Given the description of an element on the screen output the (x, y) to click on. 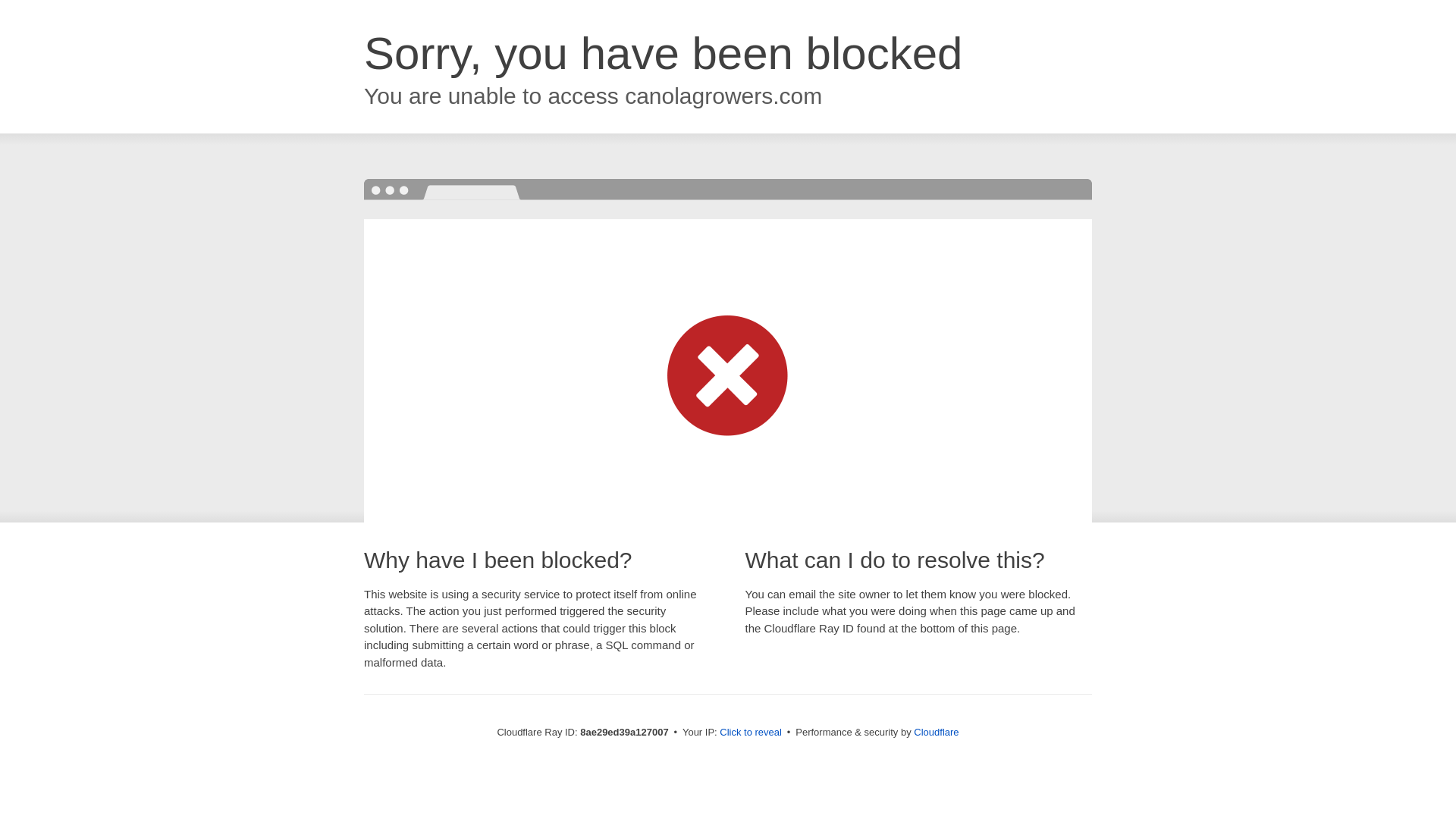
Cloudflare (936, 731)
Click to reveal (750, 732)
